Given the description of an element on the screen output the (x, y) to click on. 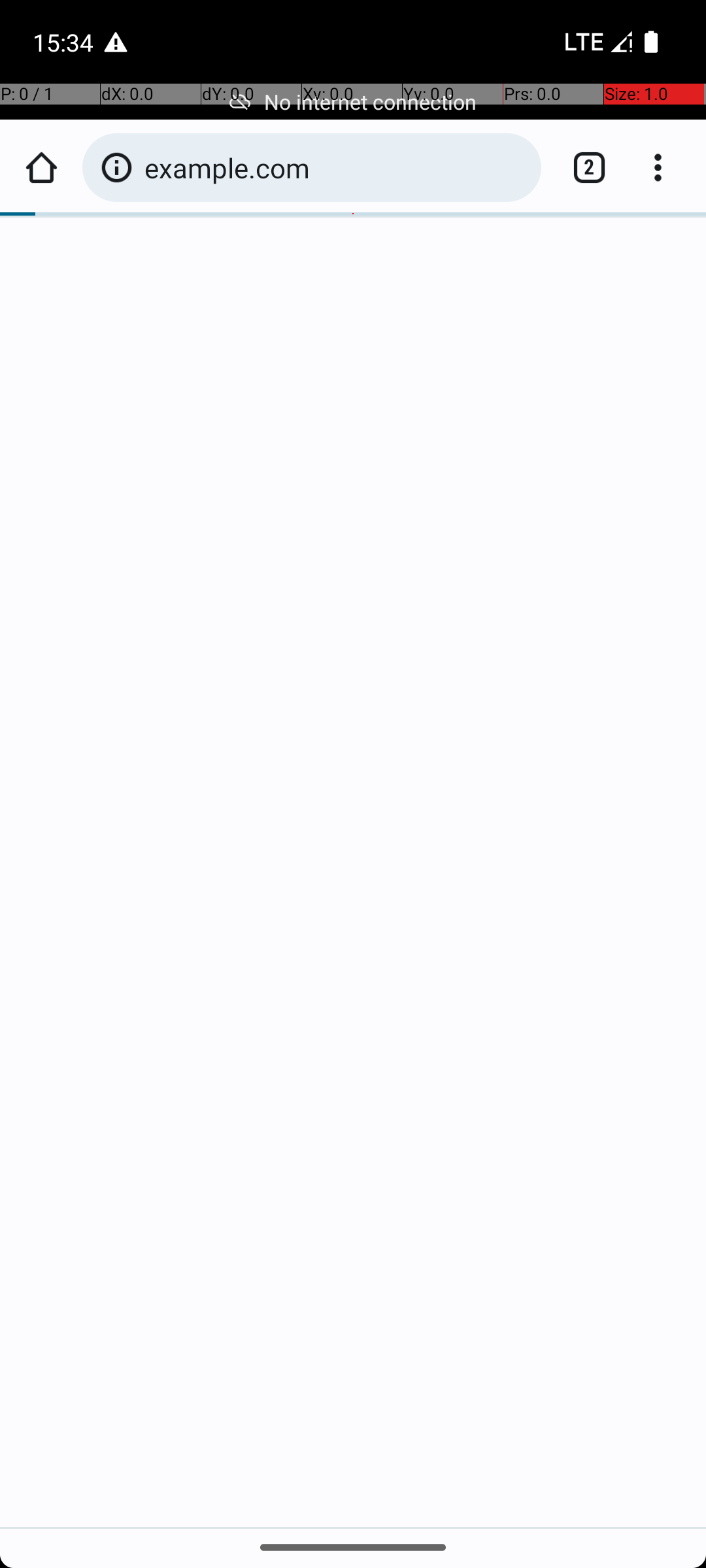
Web View Element type: android.widget.FrameLayout (353, 804)
No internet connection Element type: android.widget.TextView (352, 101)
example.com Element type: android.widget.EditText (335, 167)
Switch or close tabs Element type: android.widget.ImageButton (582, 167)
Phone one bar. Element type: android.widget.FrameLayout (595, 41)
